Given the description of an element on the screen output the (x, y) to click on. 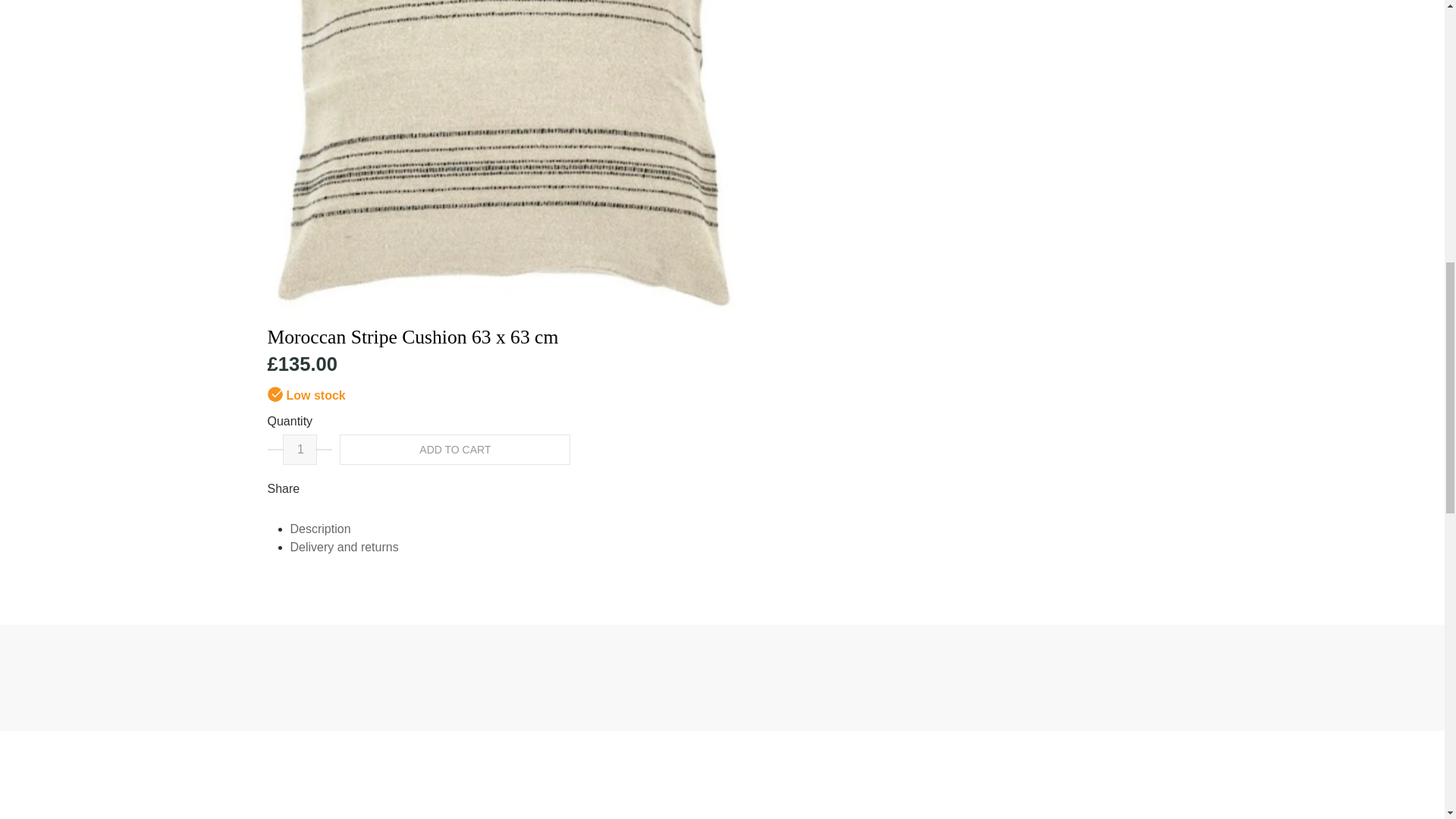
1 (299, 449)
